Given the description of an element on the screen output the (x, y) to click on. 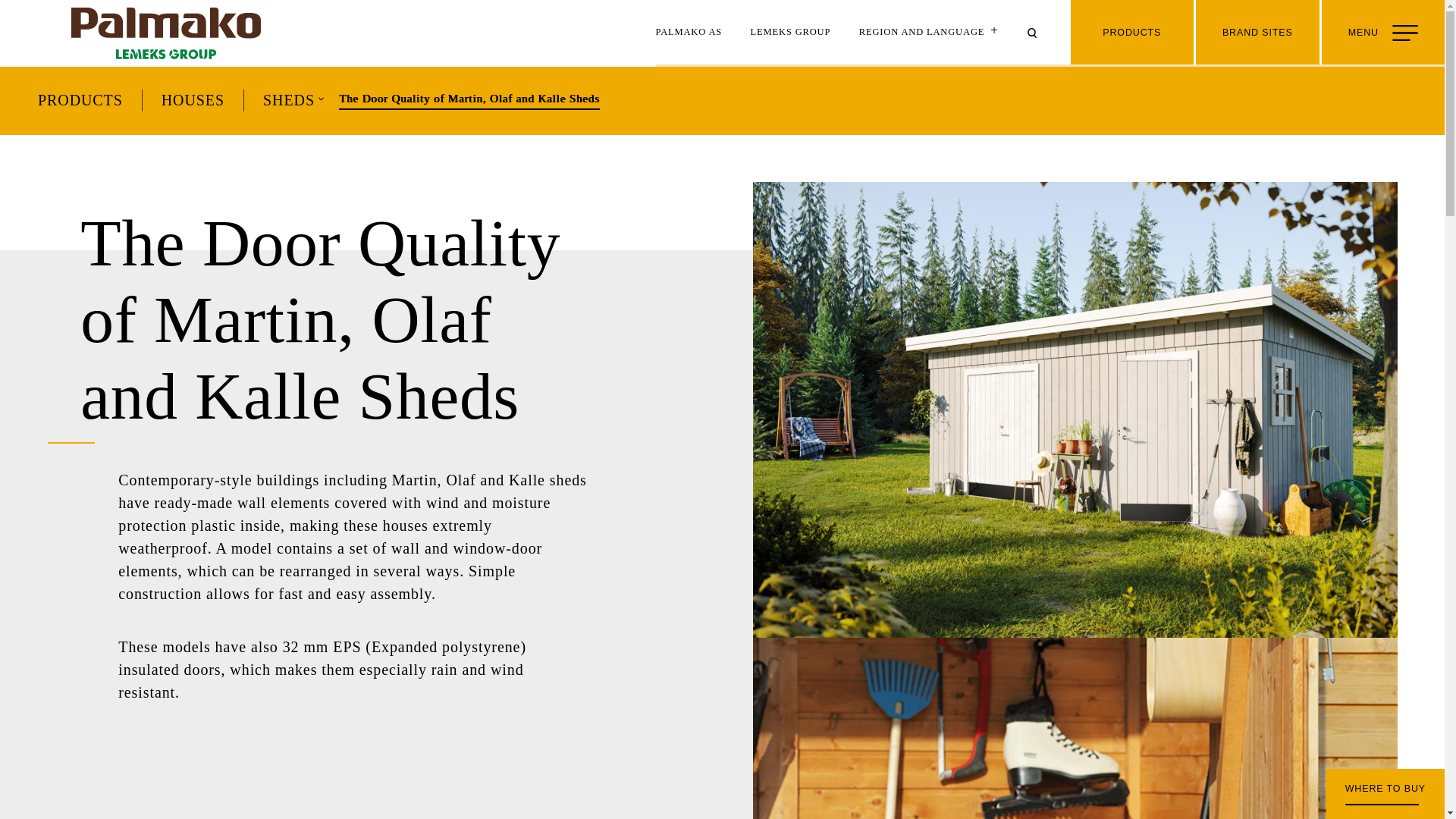
PRODUCTS (79, 100)
BRAND SITES (1257, 33)
HOUSES (192, 100)
PRODUCTS (1131, 33)
PALMAKO AS (689, 33)
SHEDS (288, 100)
LEMEKS GROUP (791, 33)
The Door Quality of Martin, Olaf and Kalle Sheds (469, 98)
REGION AND LANGUAGE (931, 33)
